Given the description of an element on the screen output the (x, y) to click on. 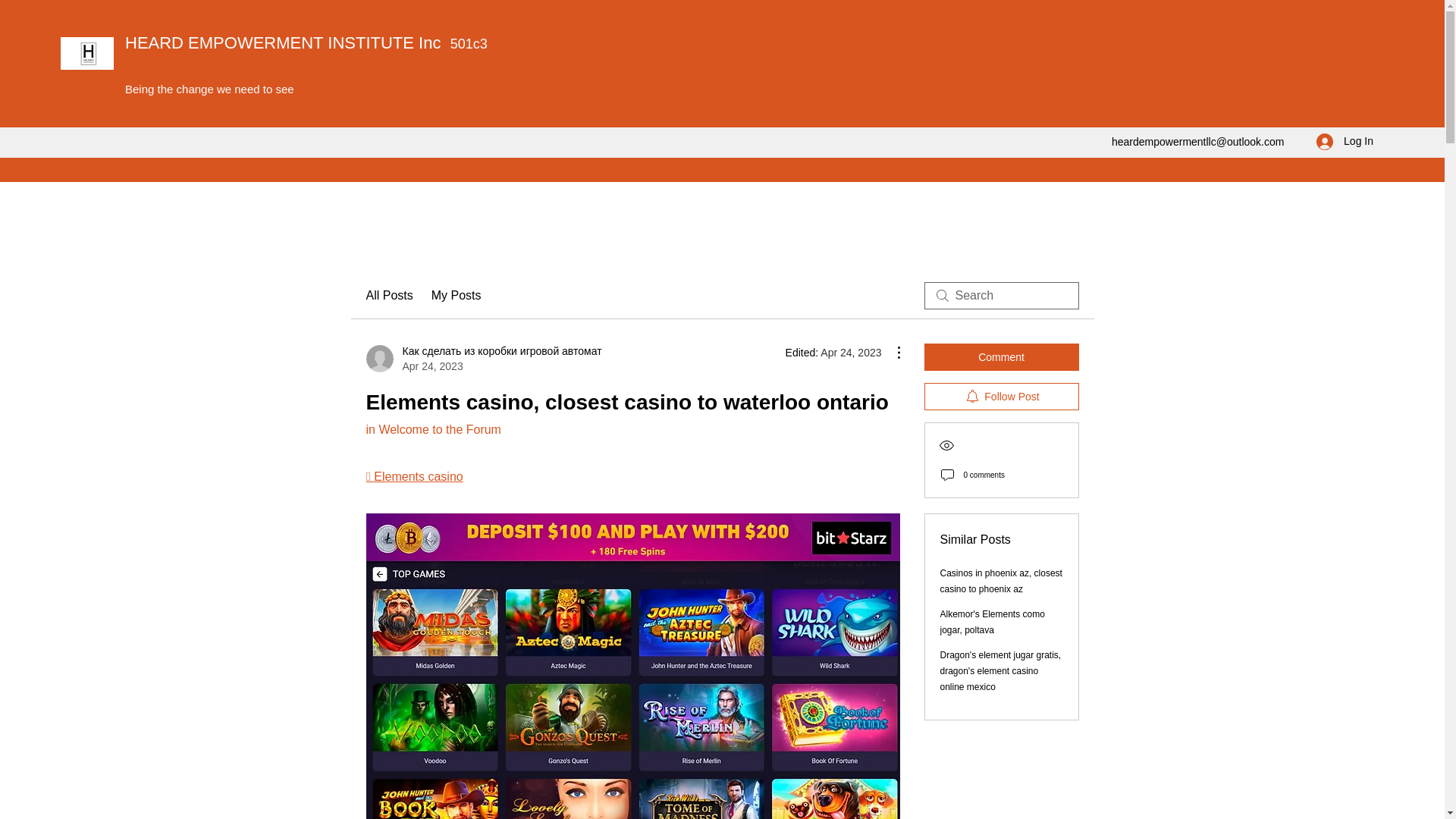
Alkemor's Elements como jogar, poltava (992, 622)
Log In (1345, 141)
All Posts (388, 295)
Comment (1000, 357)
in Welcome to the Forum (432, 429)
Follow Post (1000, 396)
HEARD EMPOWERMENT INSTITUTE Inc  501c3 (306, 42)
My Posts (455, 295)
Casinos in phoenix az, closest casino to phoenix az (1001, 581)
